Given the description of an element on the screen output the (x, y) to click on. 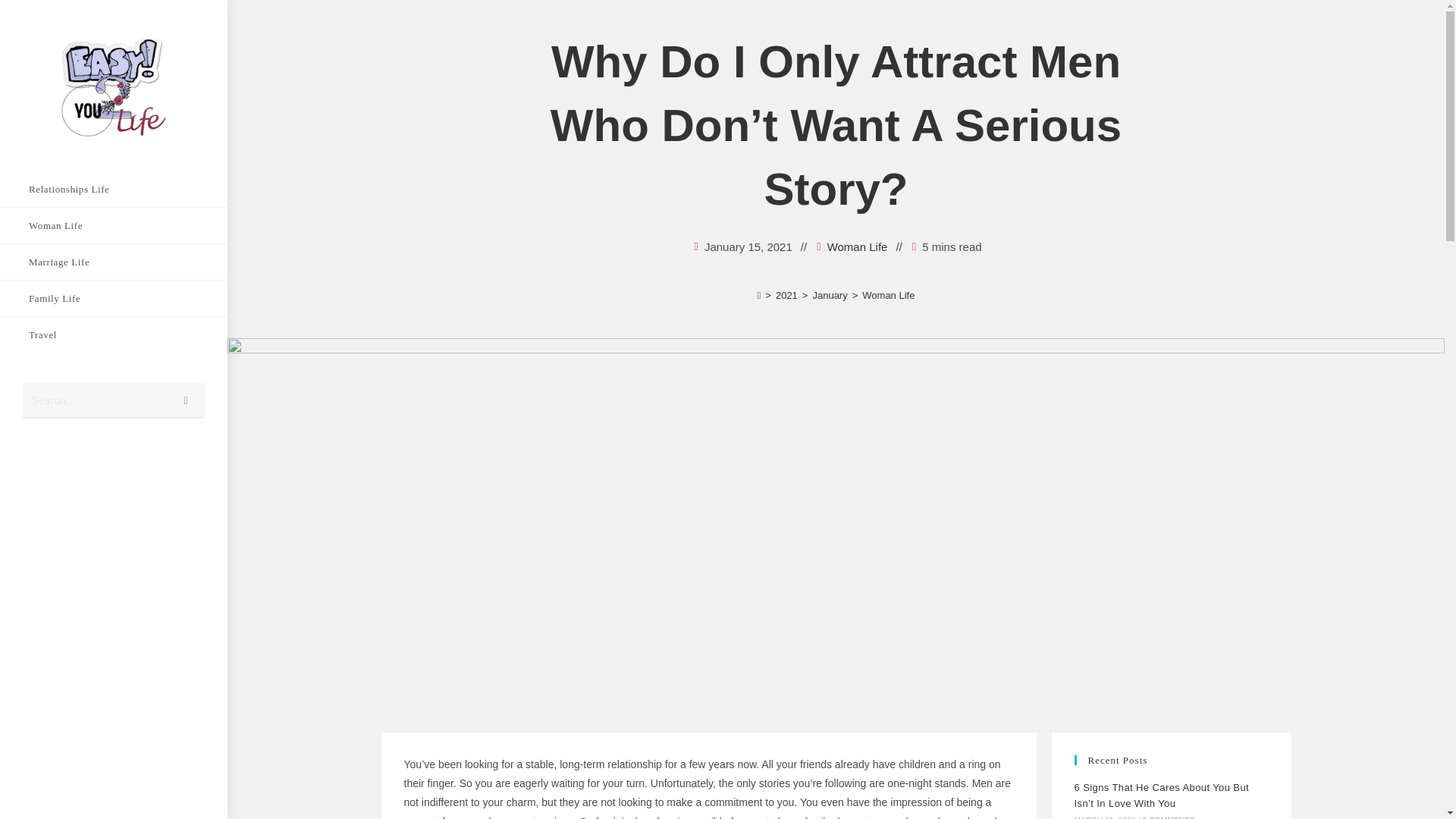
Woman Life (887, 295)
Woman Life (113, 225)
January (829, 295)
Travel (113, 334)
Woman Life (857, 246)
Family Life (113, 298)
Relationships Life (113, 189)
0 COMMENTS (1168, 817)
2021 (786, 295)
Submit search (186, 400)
Marriage Life (113, 262)
